Given the description of an element on the screen output the (x, y) to click on. 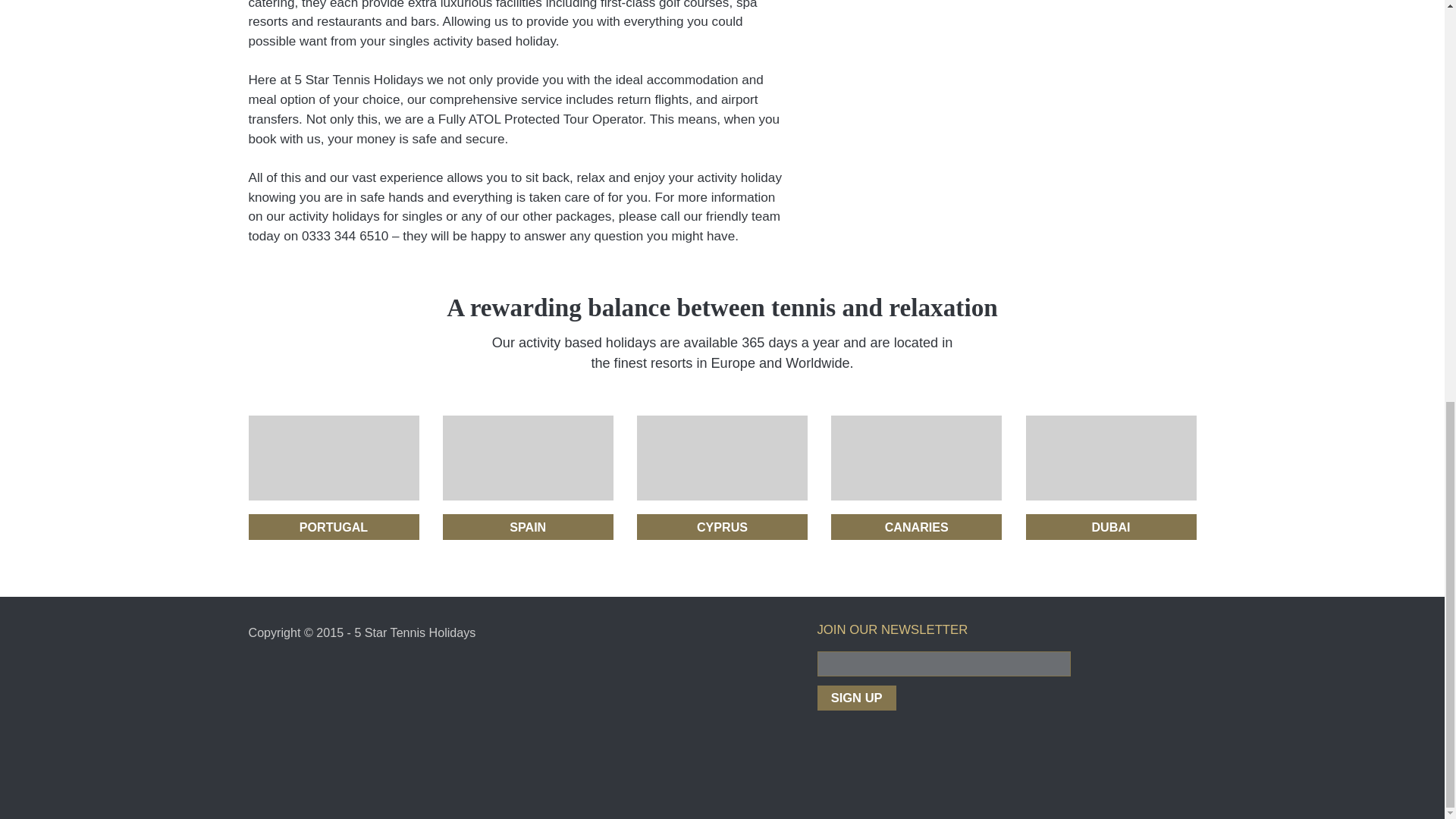
Sign up (856, 697)
